Given the description of an element on the screen output the (x, y) to click on. 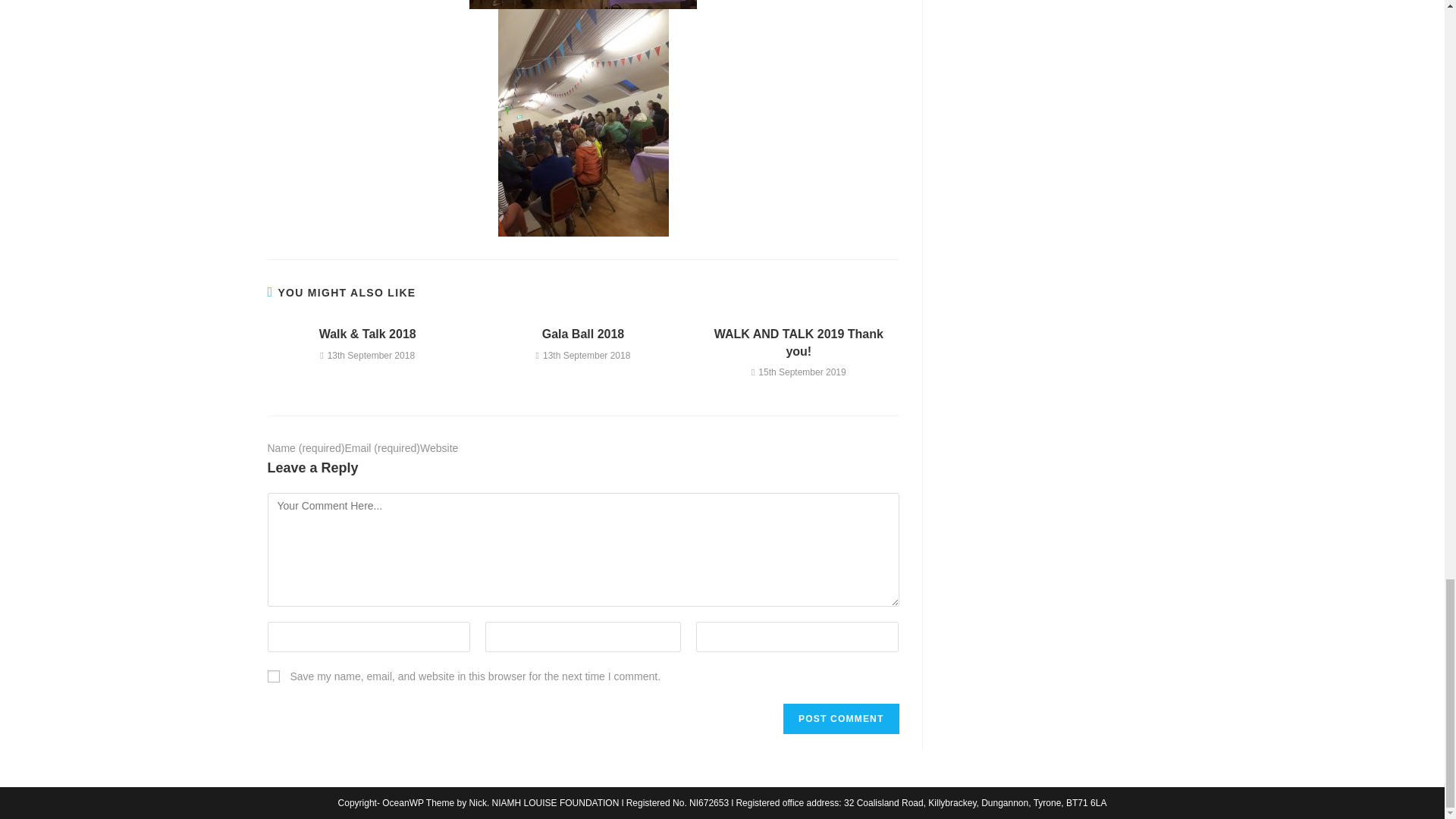
Gala Ball 2018 (583, 334)
Post Comment (840, 718)
WALK AND TALK 2019 Thank you! (798, 342)
WALK AND TALK 2019 Thank you! (798, 342)
Gala Ball 2018 (583, 334)
yes (272, 676)
Post Comment (840, 718)
